Given the description of an element on the screen output the (x, y) to click on. 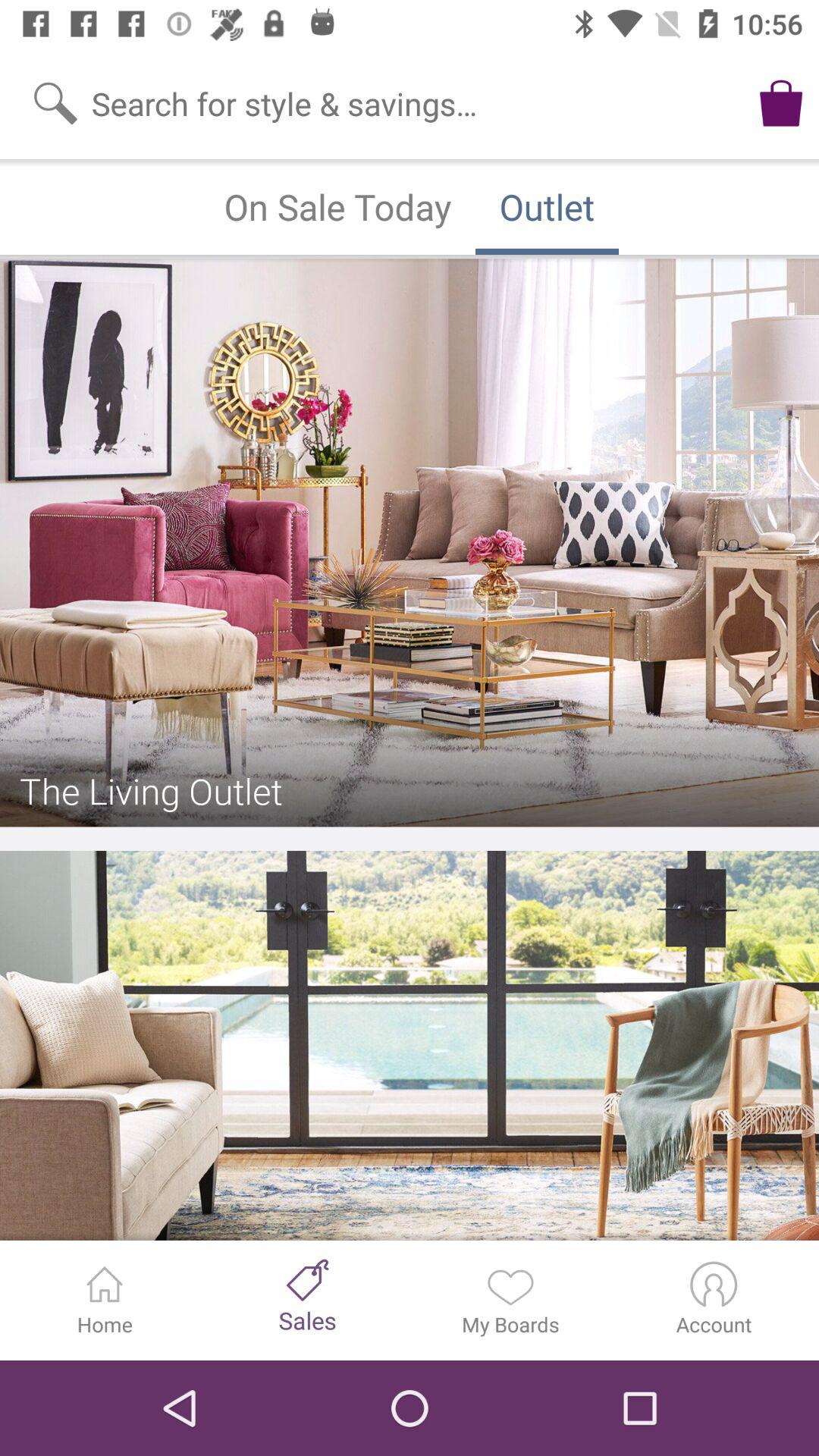
click the icon above sales (307, 1280)
click on home along with symbol at the bottom (105, 1299)
click the icon on the bottom right corner of the web page (713, 1283)
click the cart button on the top right corner of the web page (781, 103)
